Given the description of an element on the screen output the (x, y) to click on. 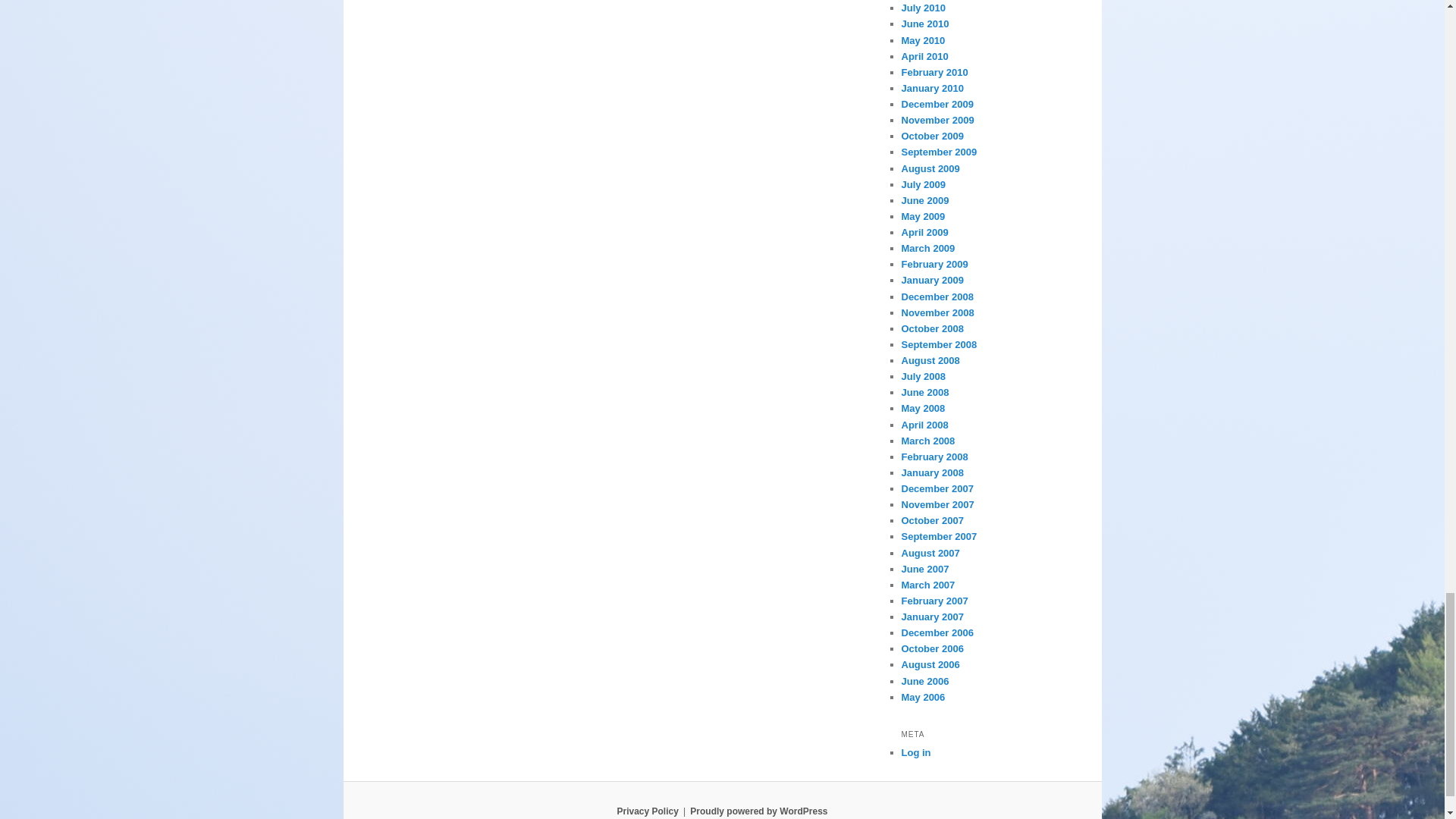
Semantic Personal Publishing Platform (758, 810)
